Given the description of an element on the screen output the (x, y) to click on. 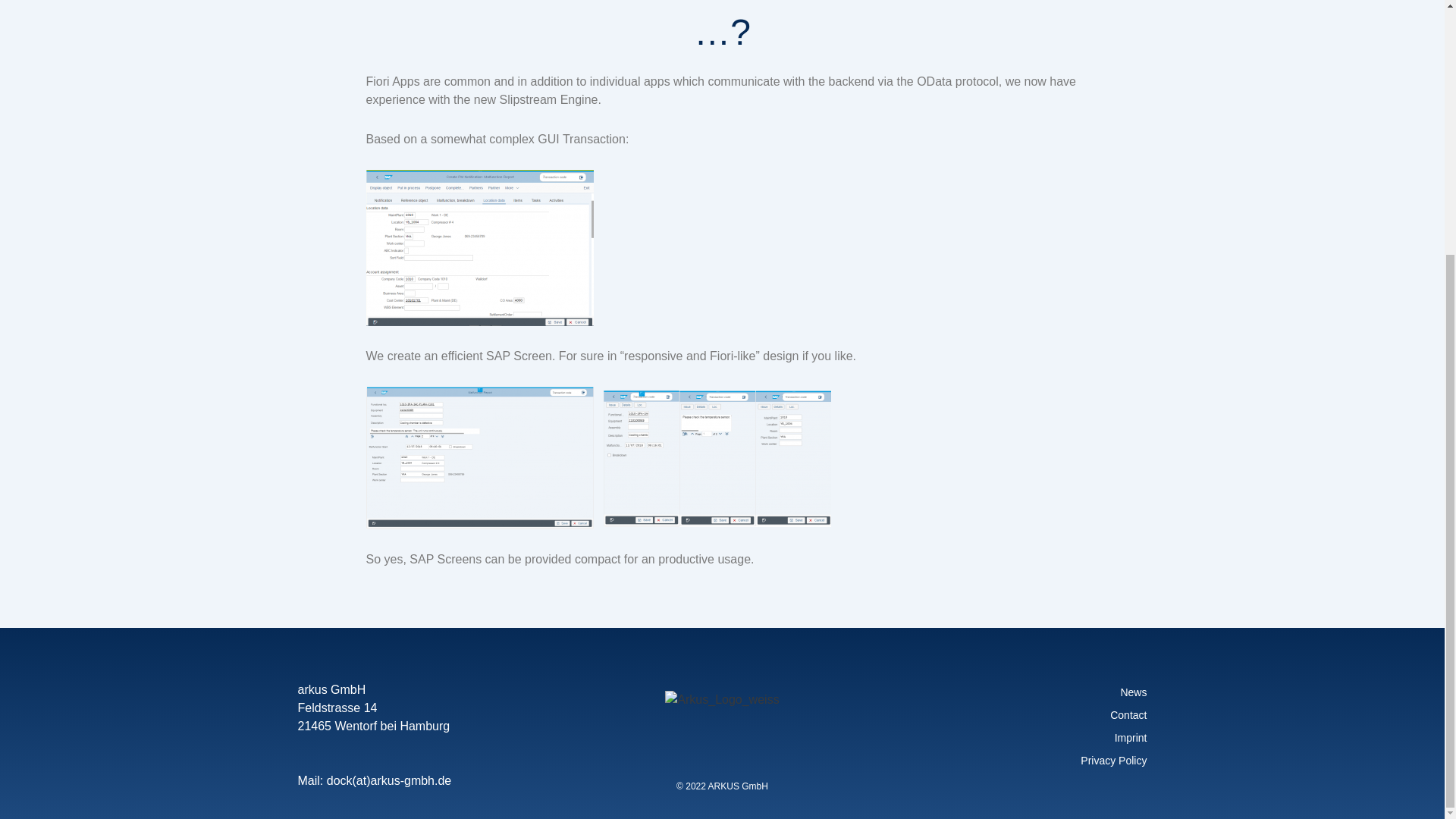
Contact (1010, 714)
News (1010, 691)
Imprint (1010, 737)
Privacy Policy (1010, 760)
